Given the description of an element on the screen output the (x, y) to click on. 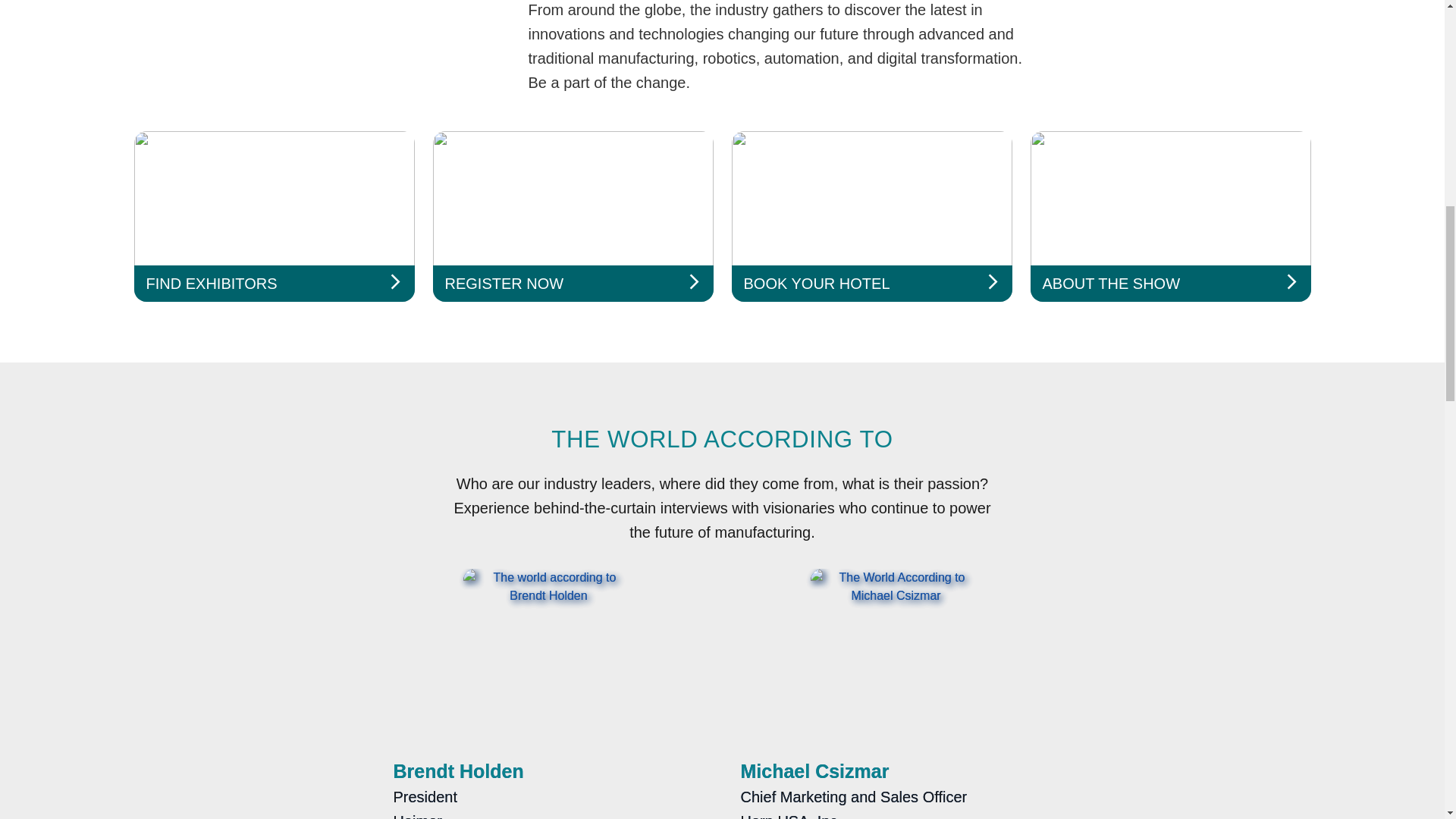
BOOK YOUR HOTEL (870, 216)
Read more about Brendt Holden (548, 693)
ABOUT THE SHOW (1169, 216)
REGISTER NOW (572, 216)
FIND EXHIBITORS (273, 216)
Read more about Michael Csizmar (895, 693)
